Given the description of an element on the screen output the (x, y) to click on. 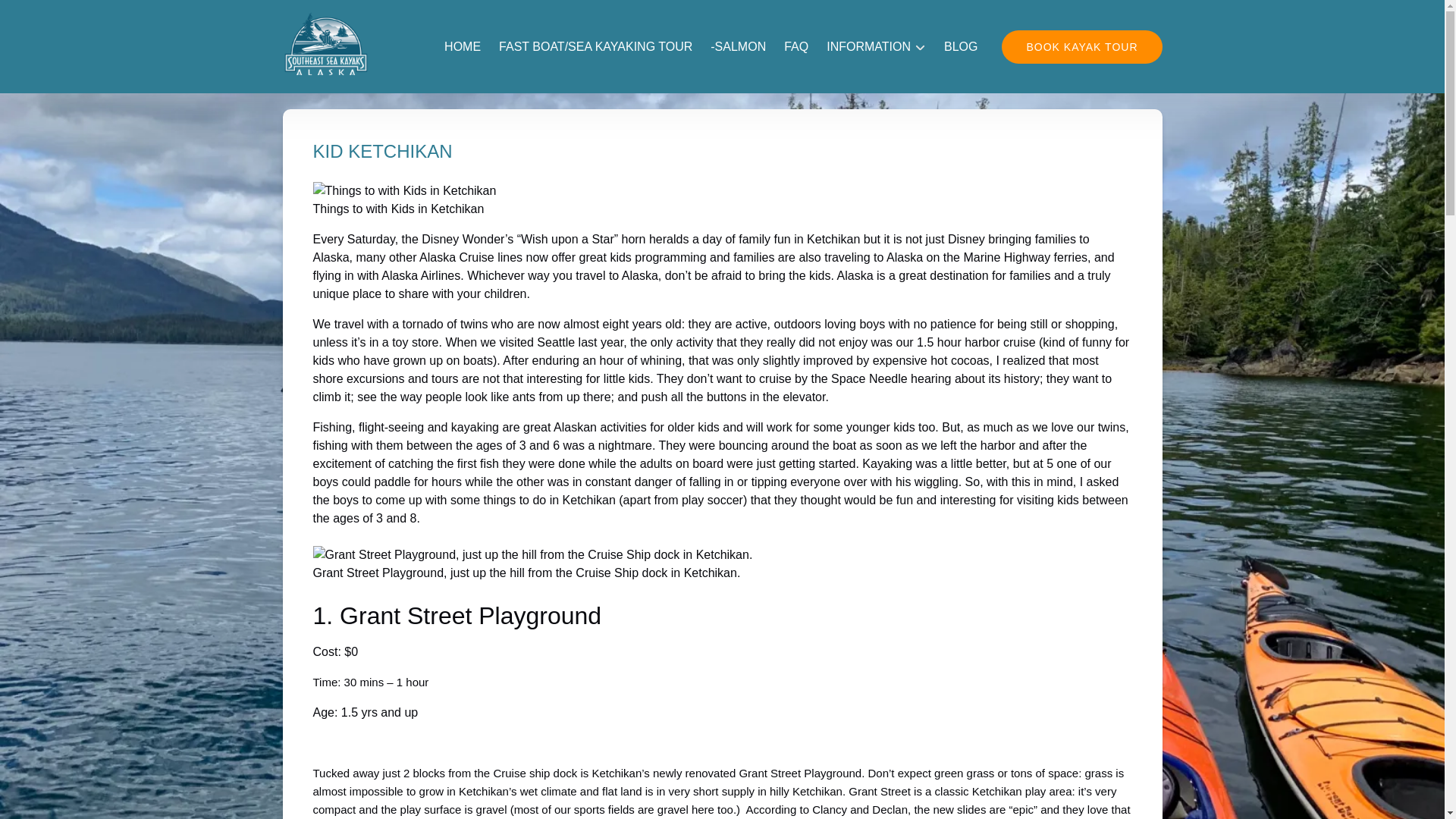
Skip to content (47, 16)
HOME (462, 46)
Open Information Menu (878, 37)
return to Blog (324, 69)
Skip to footer (42, 16)
BOOK KAYAK TOUR (1081, 46)
Back to Blog (324, 69)
BLOG (960, 46)
FAQ (795, 46)
INFORMATION (875, 46)
